Given the description of an element on the screen output the (x, y) to click on. 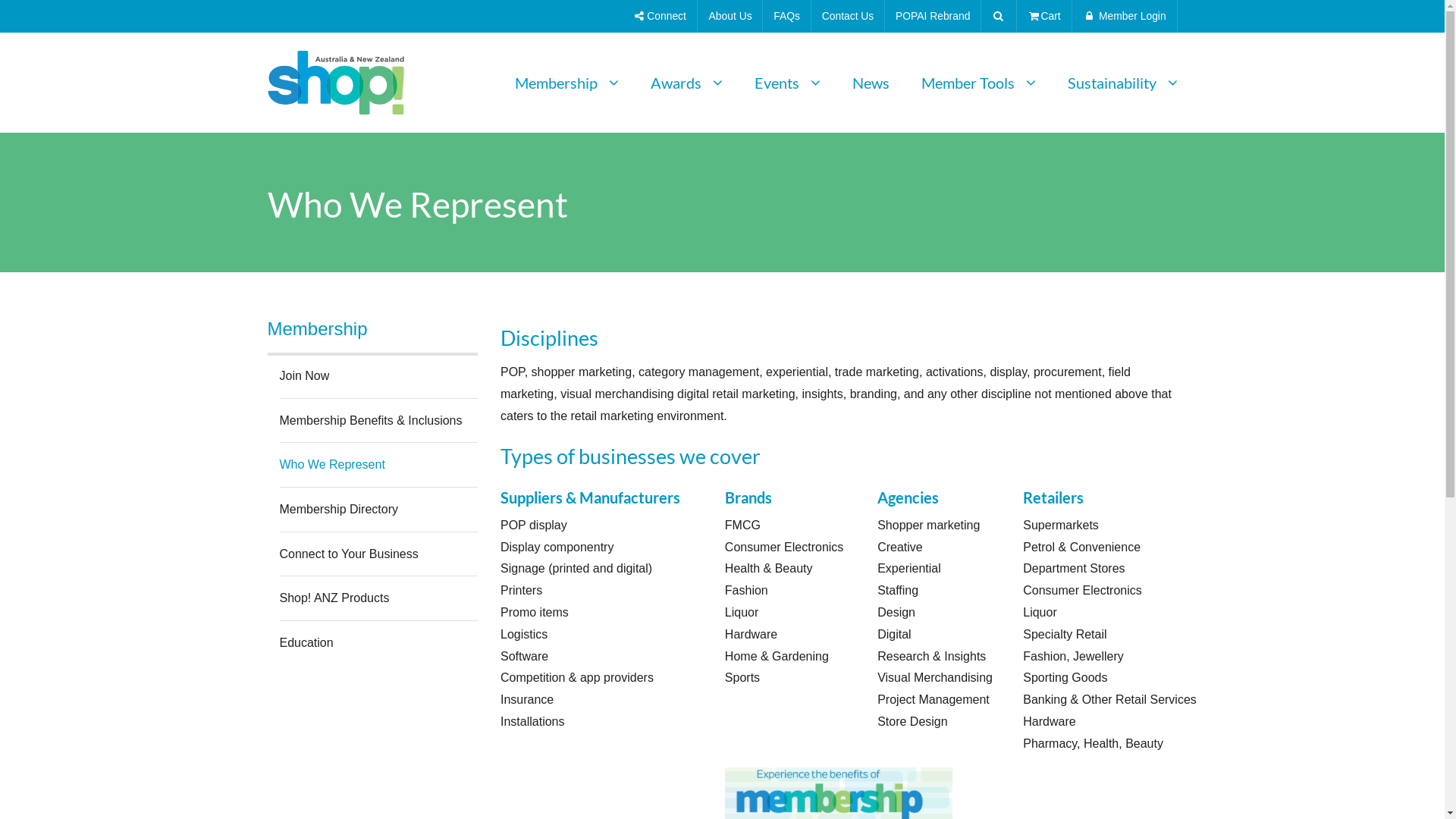
Cart Element type: text (1043, 16)
Shop! ANZ Products Element type: text (334, 597)
Sustainability Element type: text (1114, 82)
Who We Represent Element type: text (331, 464)
Contact Us Element type: text (847, 16)
Membership Directory Element type: text (338, 508)
Membership Benefits & Inclusions Element type: text (370, 420)
FAQs Element type: text (785, 16)
Join Now Element type: text (304, 375)
Awards Element type: text (686, 82)
POPAI Rebrand Element type: text (932, 16)
News Element type: text (870, 82)
Education Element type: text (305, 642)
Events Element type: text (786, 82)
About Us Element type: text (730, 16)
Membership Element type: text (371, 328)
 Connect Element type: text (660, 16)
Membership Element type: text (565, 82)
Member Tools Element type: text (977, 82)
Member Login Element type: text (1124, 16)
Connect to Your Business Element type: text (348, 553)
